Given the description of an element on the screen output the (x, y) to click on. 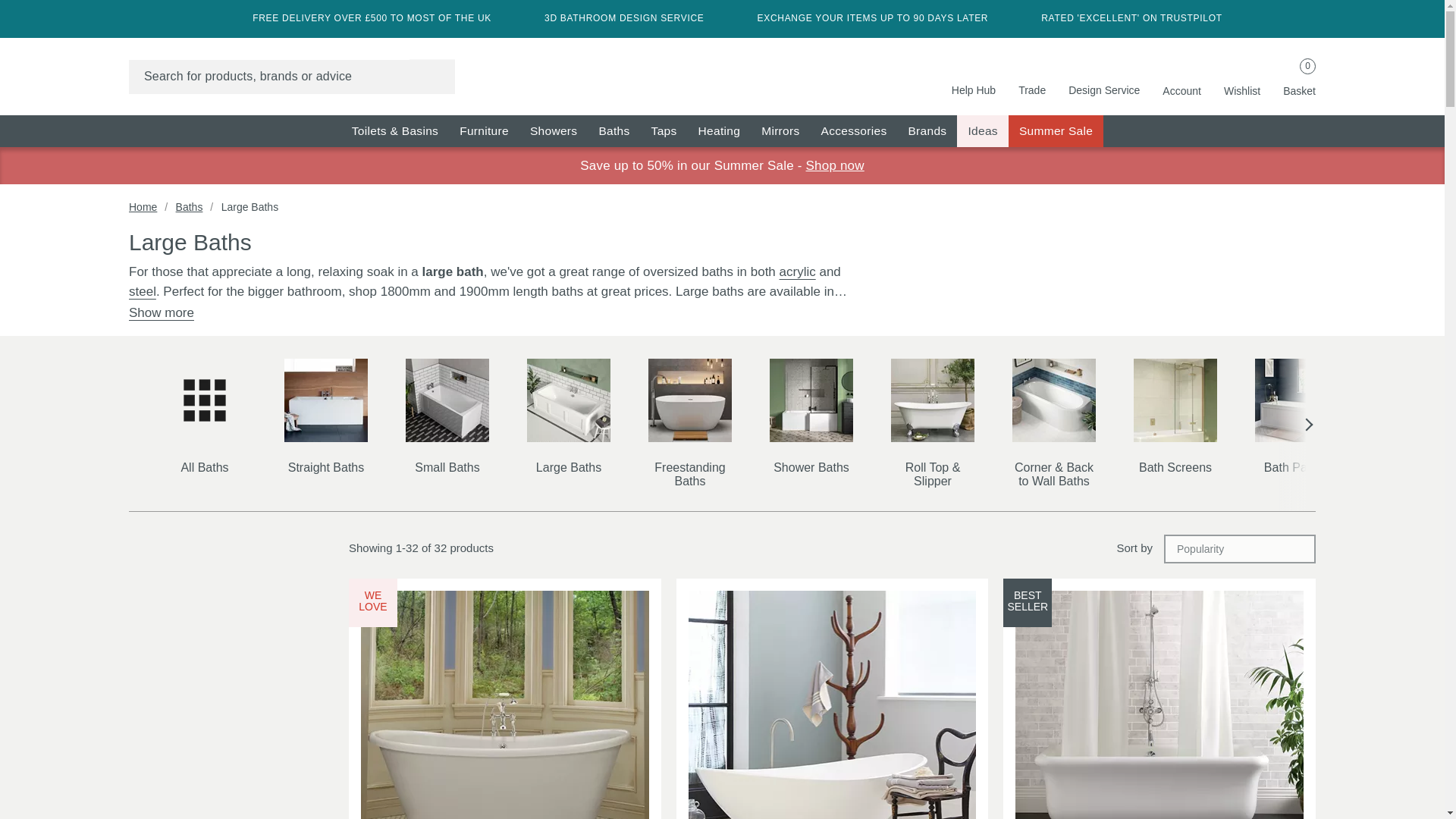
Furniture (483, 131)
Accessories (854, 131)
Search (431, 75)
Taps (663, 131)
Summer Sale (1181, 76)
Design Service (1056, 131)
Mirrors (1104, 76)
Drench (780, 131)
Baths (721, 68)
